Given the description of an element on the screen output the (x, y) to click on. 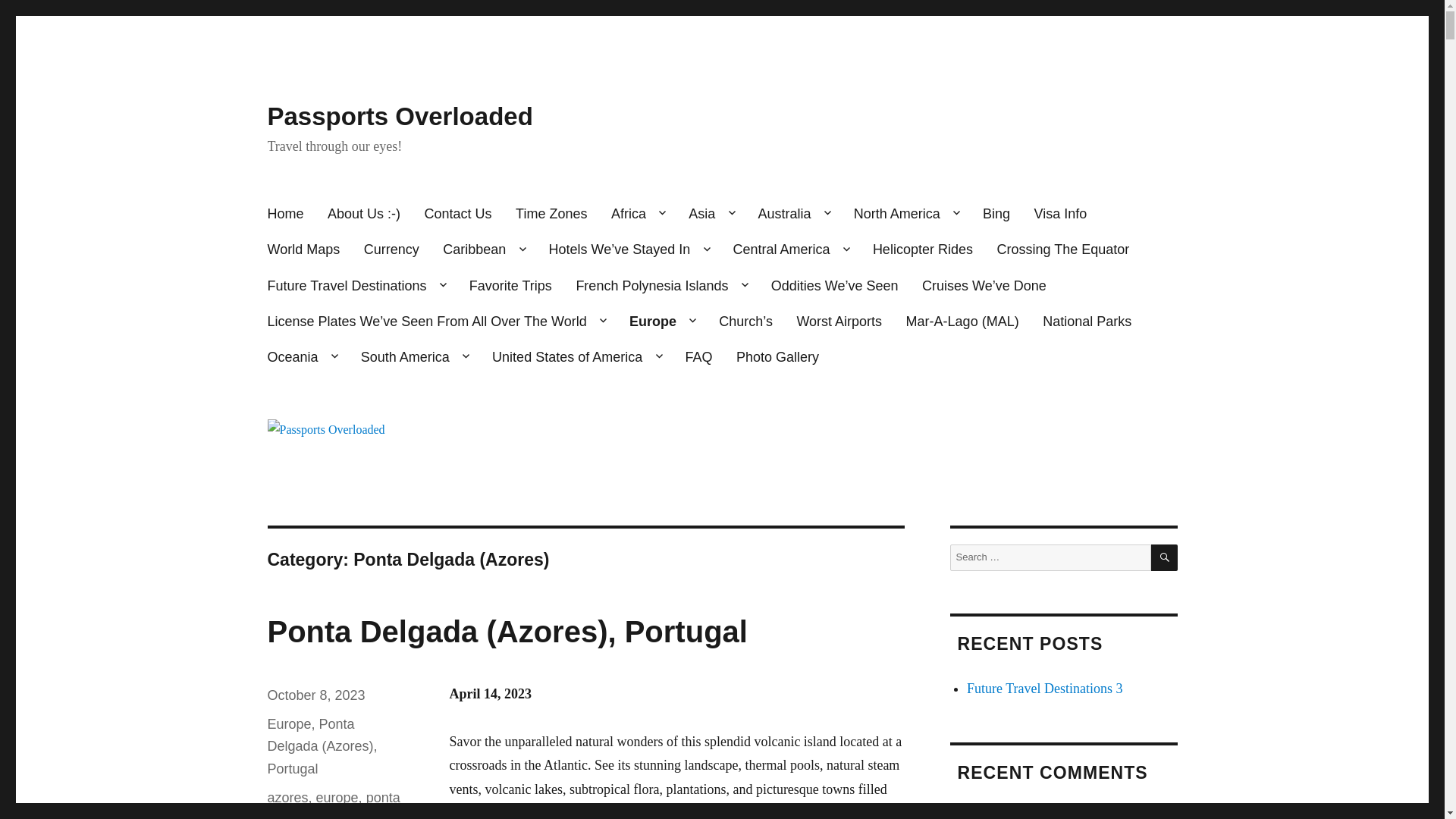
Contact Us (457, 213)
Home (285, 213)
Africa (637, 213)
Passports Overloaded (399, 116)
Time Zones (550, 213)
